Given the description of an element on the screen output the (x, y) to click on. 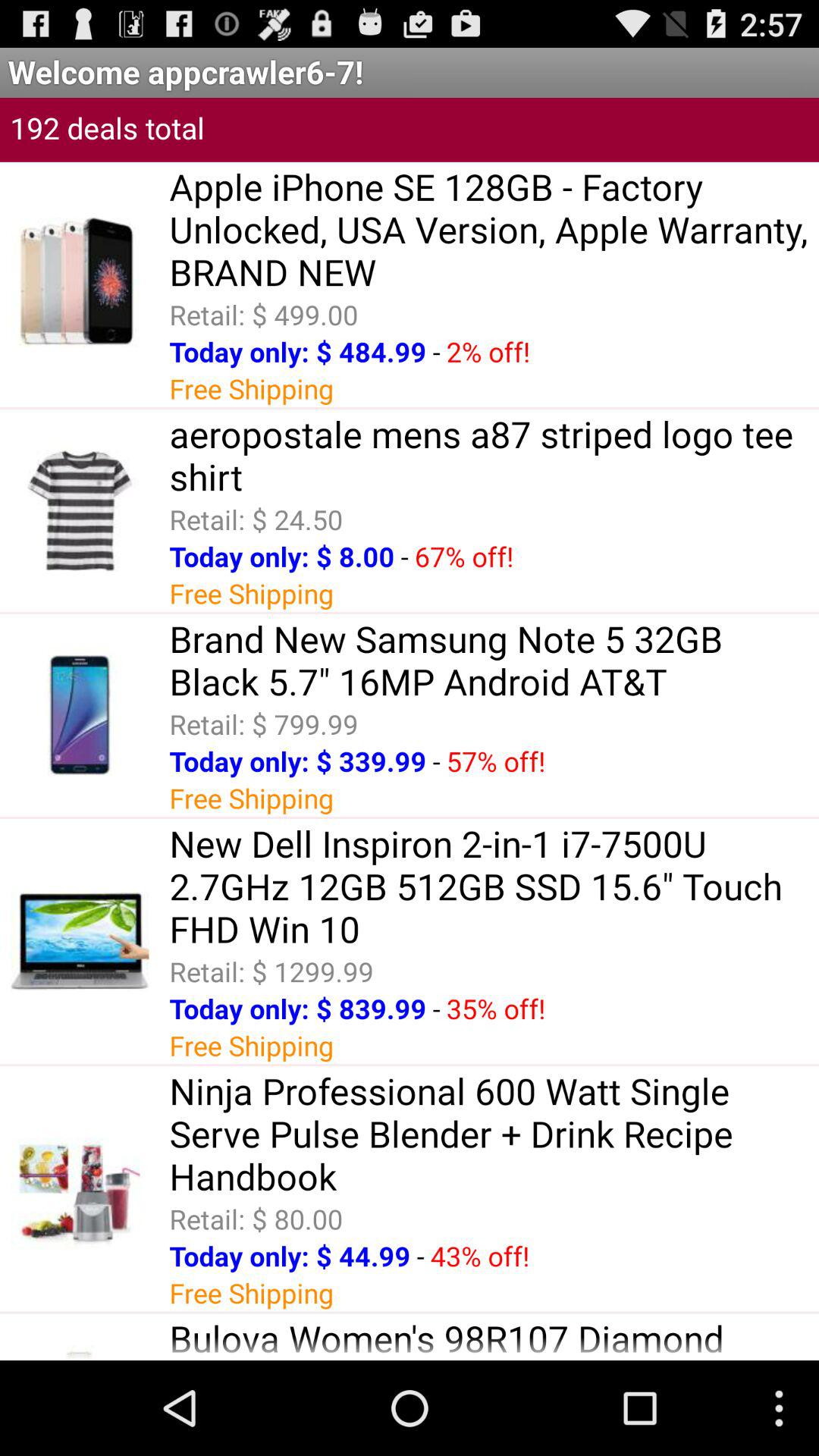
select the icon above the retail: $ 80.00 app (494, 1133)
